Given the description of an element on the screen output the (x, y) to click on. 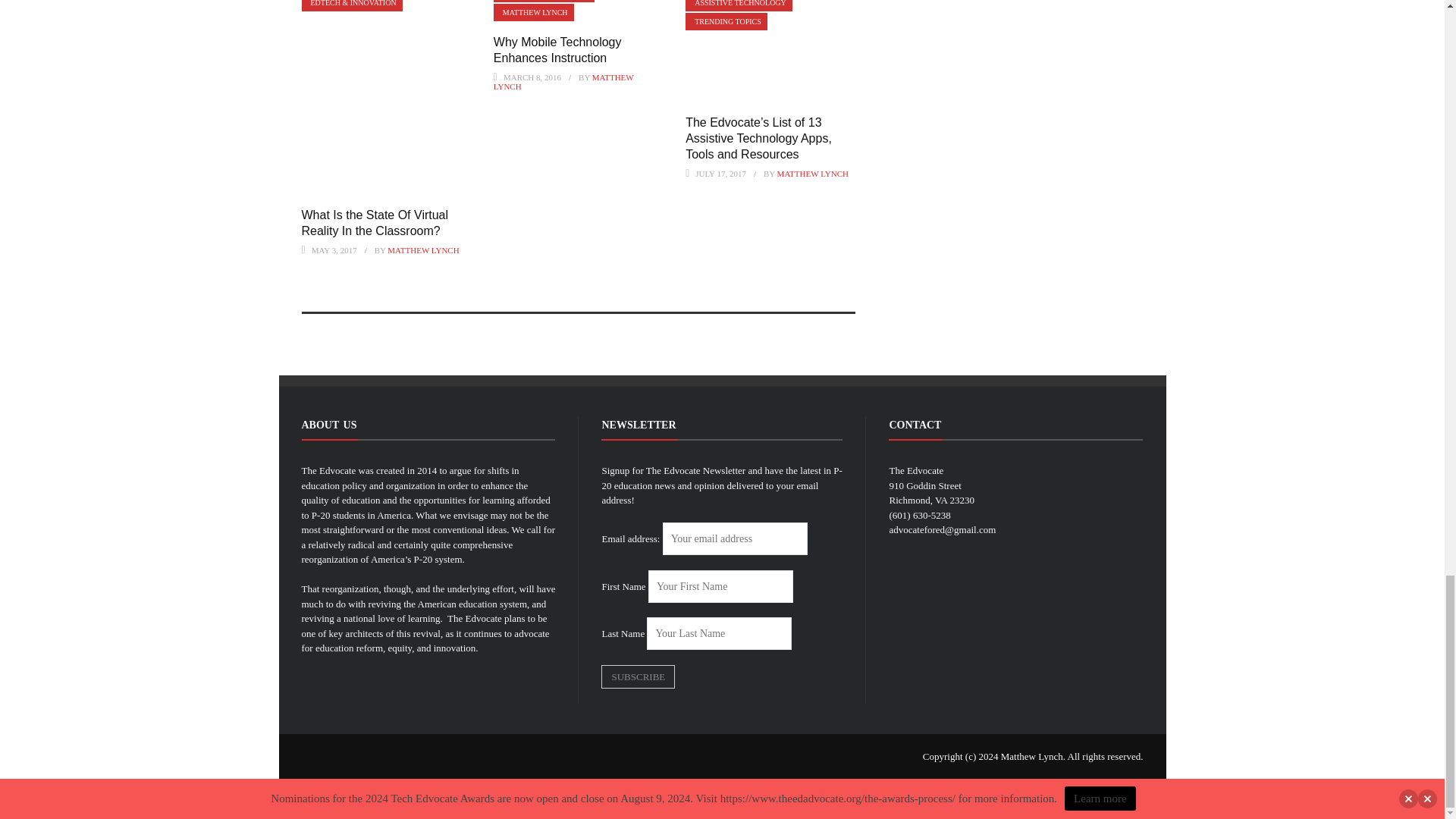
Subscribe (638, 677)
